Given the description of an element on the screen output the (x, y) to click on. 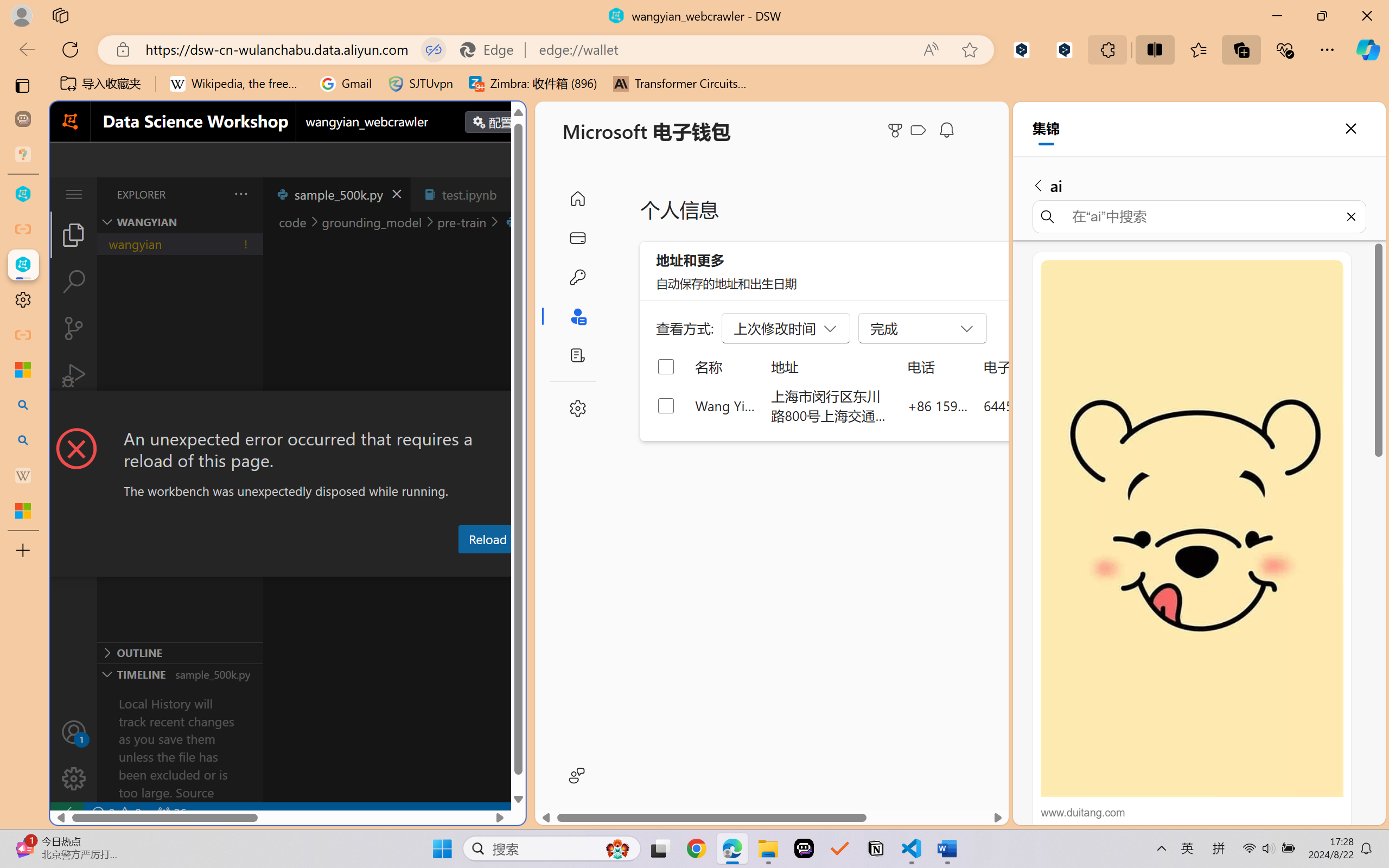
Tab actions (512, 194)
Explorer Section: wangyian (179, 221)
Wikipedia, the free encyclopedia (236, 83)
Close Dialog (520, 410)
Explorer (Ctrl+Shift+E) (73, 234)
